Given the description of an element on the screen output the (x, y) to click on. 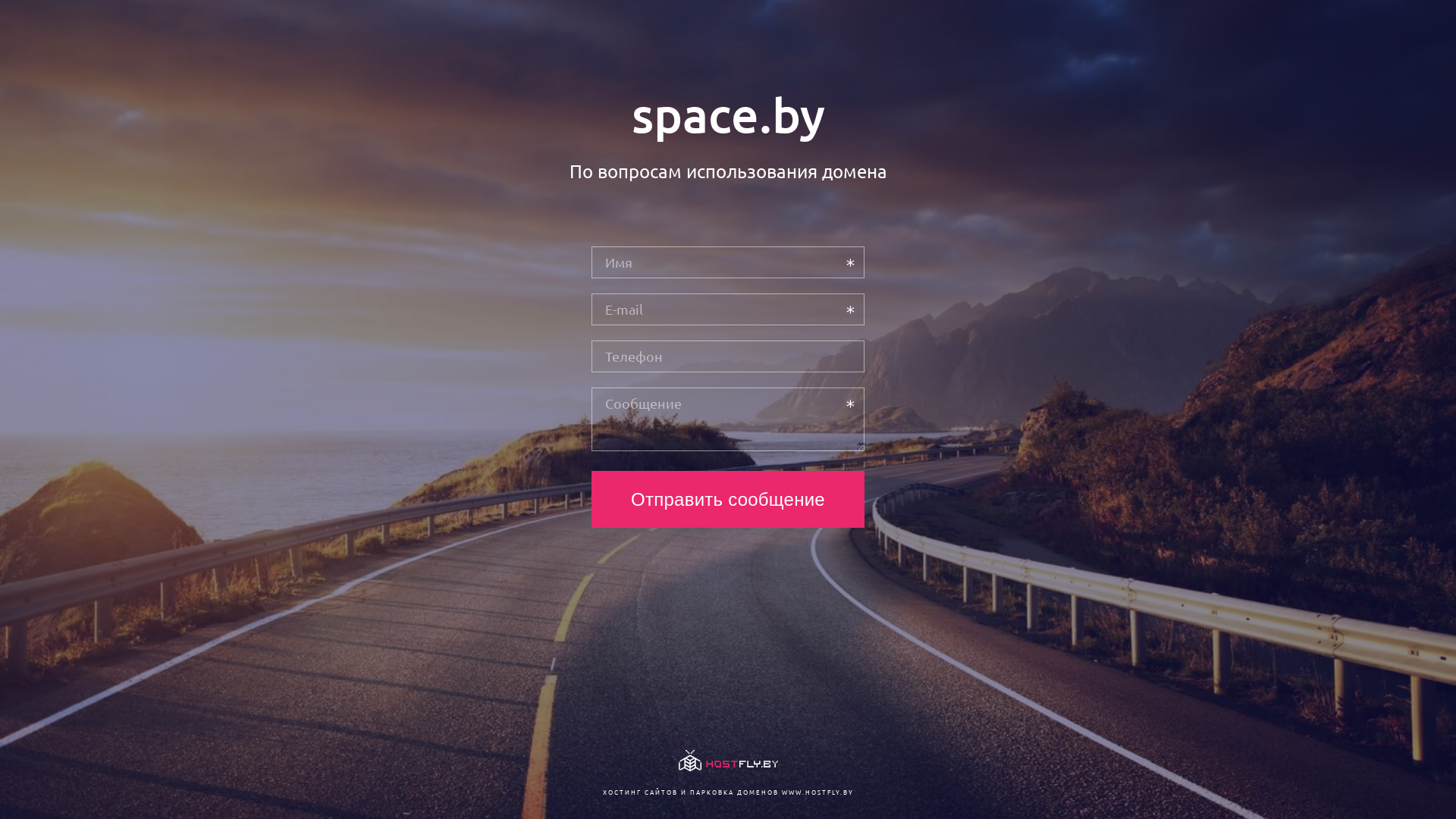
WWW.HOSTFLY.BY Element type: text (817, 791)
